Given the description of an element on the screen output the (x, y) to click on. 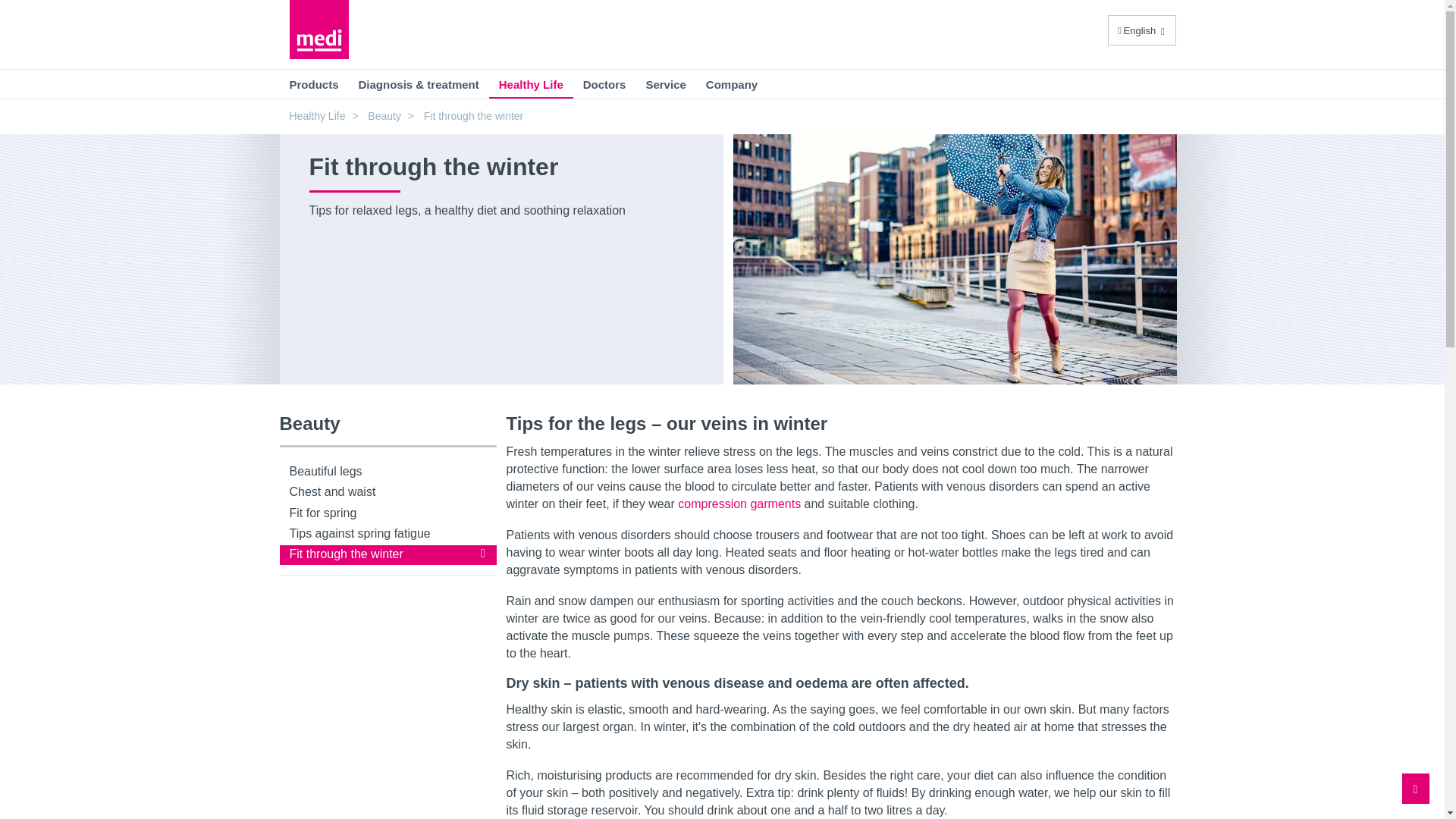
Products (313, 83)
medi GmbH (319, 29)
English (1142, 30)
